Given the description of an element on the screen output the (x, y) to click on. 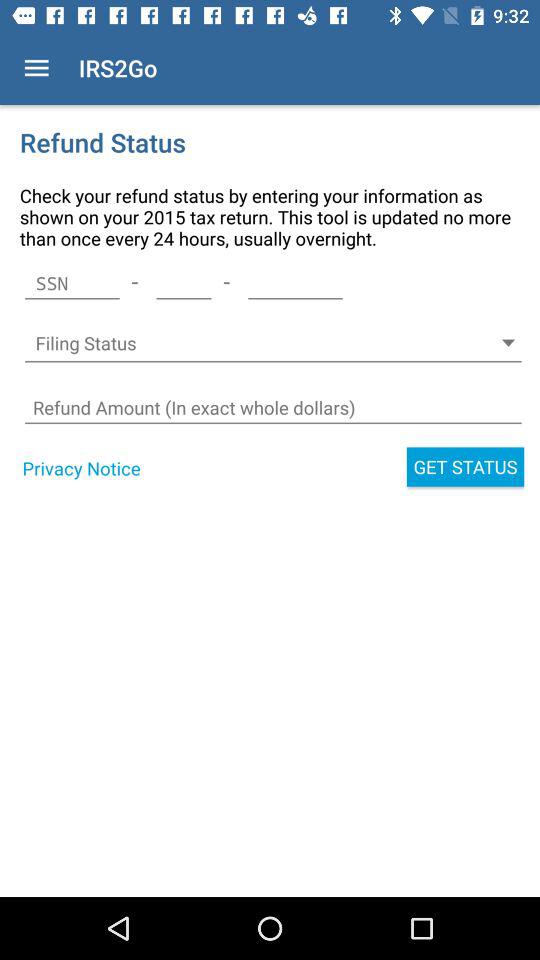
click icon above privacy notice item (272, 408)
